Given the description of an element on the screen output the (x, y) to click on. 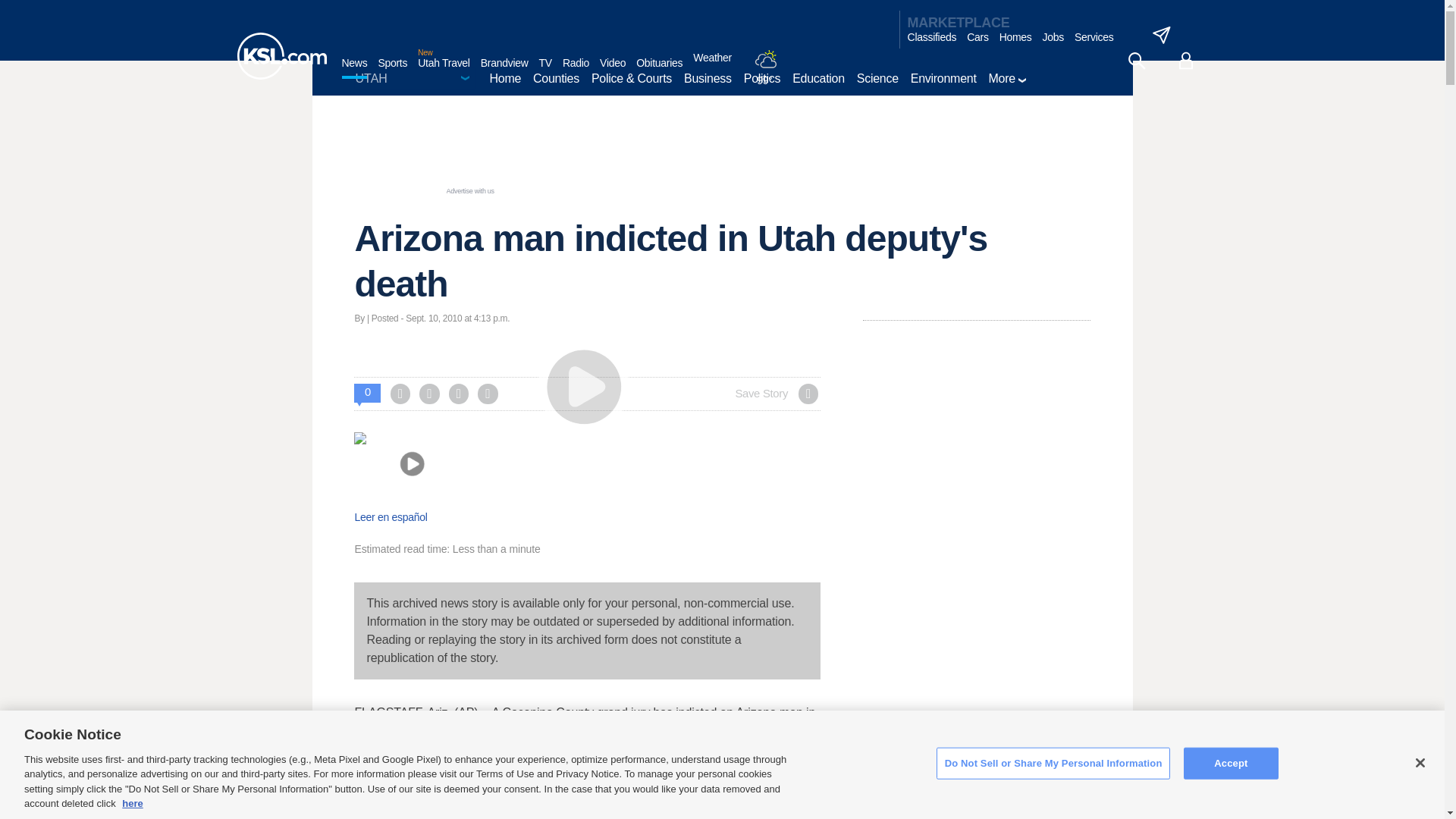
3rd party ad content (721, 151)
account - logged out (1185, 60)
search (1135, 60)
KSL homepage (280, 55)
